Given the description of an element on the screen output the (x, y) to click on. 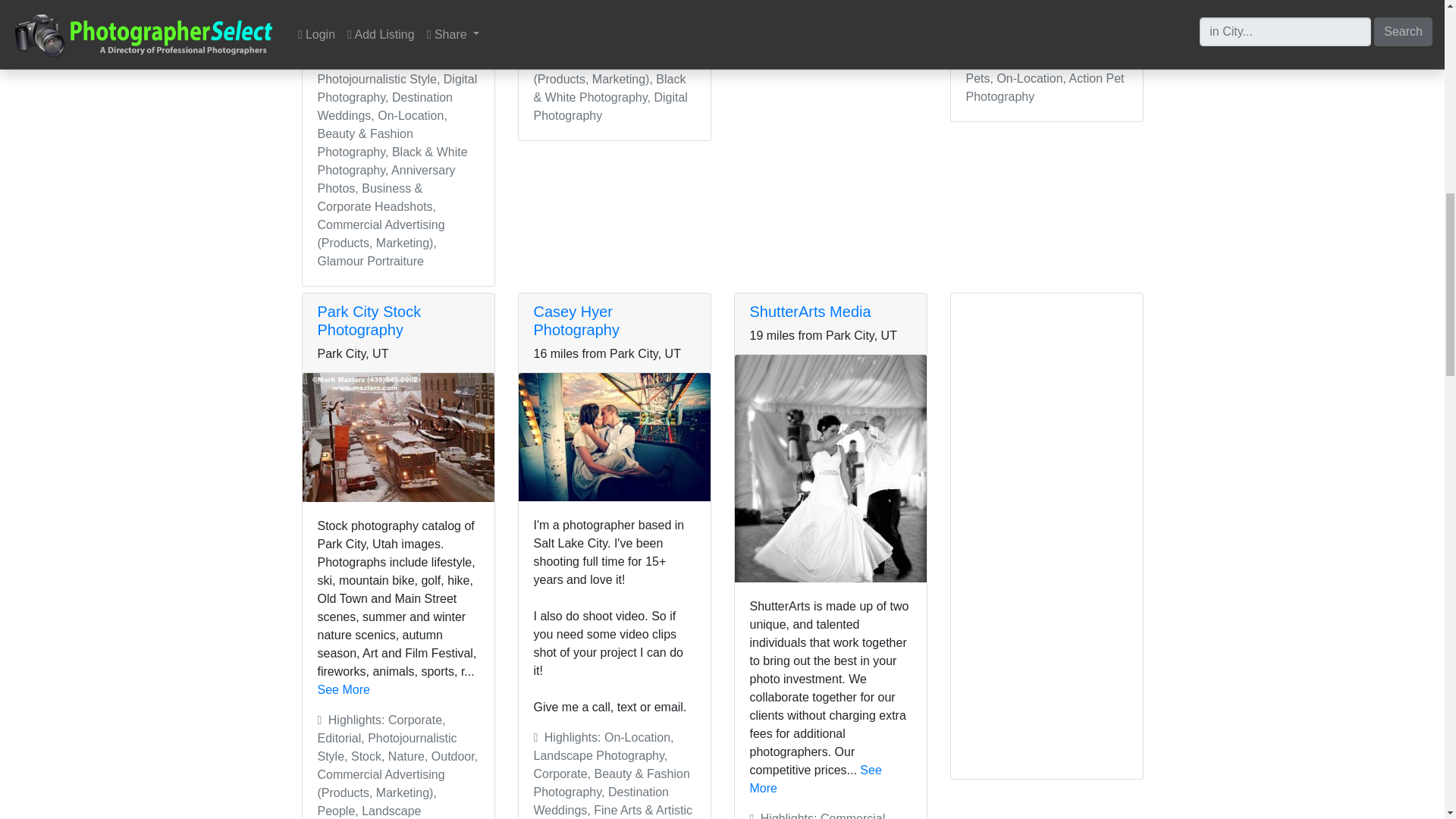
Casey Hyer Photography (577, 320)
See More (343, 689)
ShutterArts Media (809, 311)
Park City Stock Photography (368, 320)
See More (814, 778)
